Given the description of an element on the screen output the (x, y) to click on. 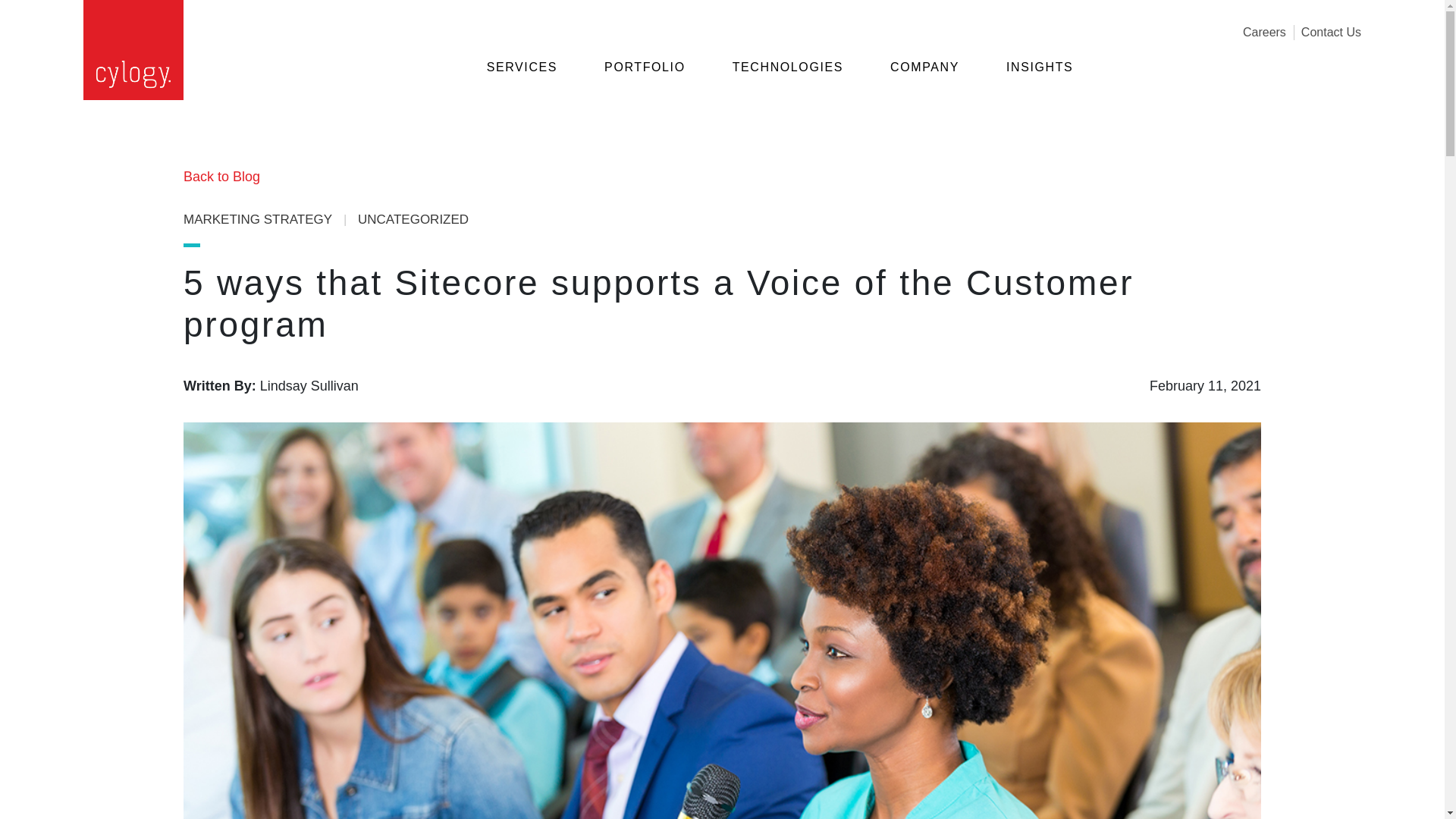
Contact Us (1331, 31)
Careers (1264, 31)
TECHNOLOGIES (787, 74)
COMPANY (924, 74)
SERVICES (521, 74)
PORTFOLIO (644, 74)
